Given the description of an element on the screen output the (x, y) to click on. 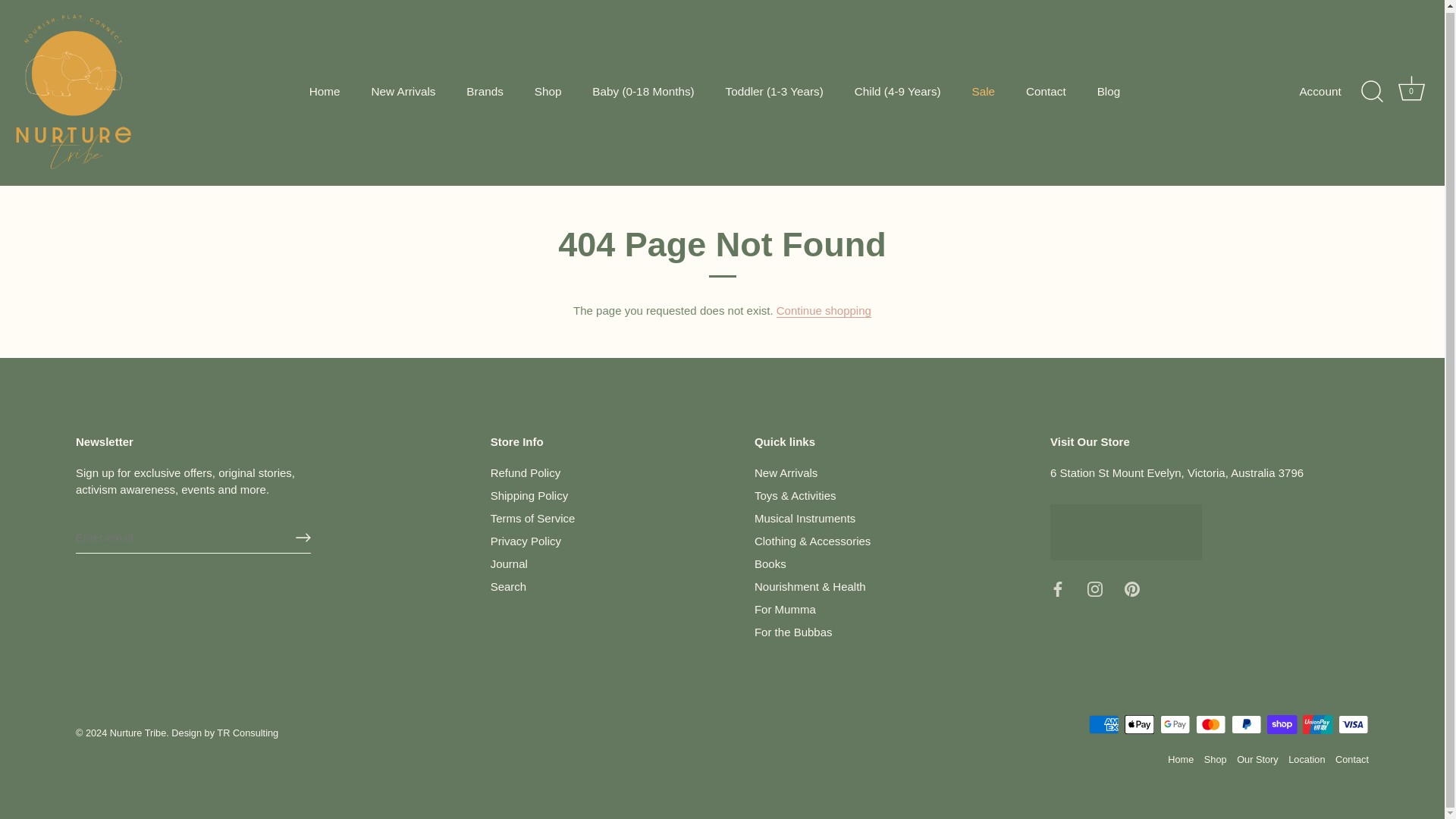
Home (324, 91)
Brands (484, 91)
Union Pay (1317, 723)
Visa (1353, 723)
Shop Pay (1281, 723)
Mastercard (1210, 723)
New Arrivals (402, 91)
Pinterest (1132, 589)
RIGHT ARROW LONG (303, 537)
Google Pay (1174, 723)
PayPal (1245, 723)
Instagram (1094, 589)
American Express (1104, 723)
Cart (1411, 88)
